Given the description of an element on the screen output the (x, y) to click on. 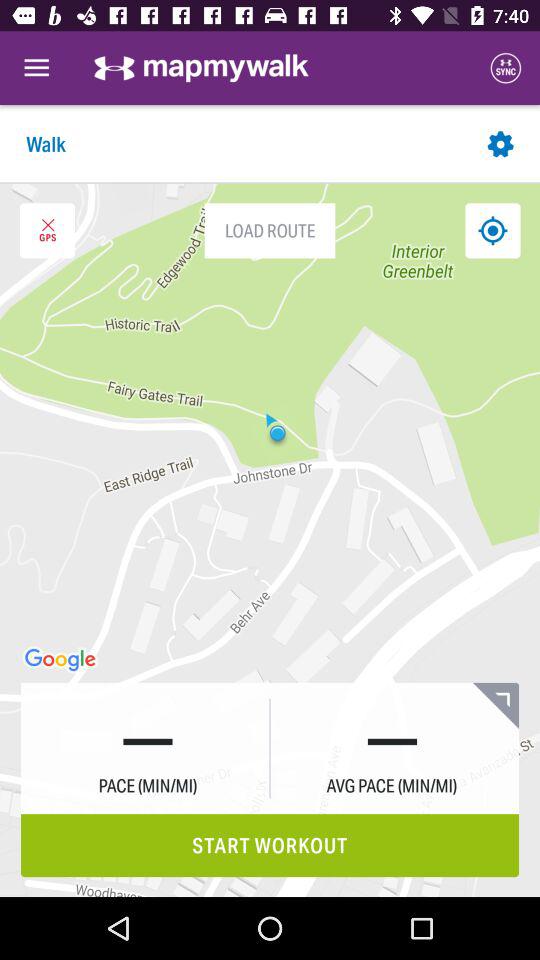
open start workout (270, 845)
